Given the description of an element on the screen output the (x, y) to click on. 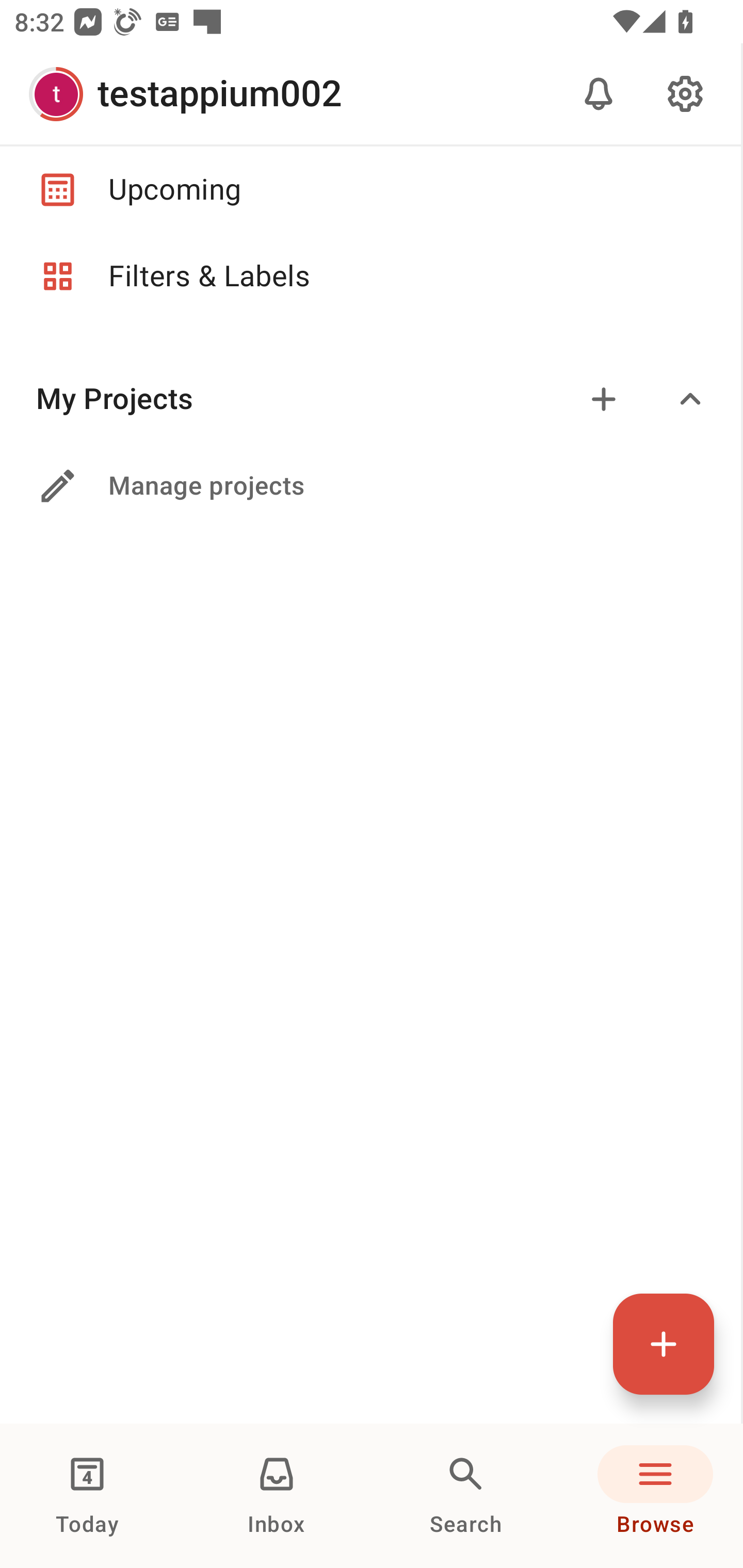
Notifications (598, 93)
Settings (684, 93)
Upcoming (370, 189)
Filters & Labels (370, 276)
My Projects Add Expand/collapse (370, 398)
Add (603, 398)
Expand/collapse (690, 398)
Manage projects (370, 485)
Quick add (663, 1343)
Today (87, 1495)
Inbox (276, 1495)
Search (465, 1495)
